Given the description of an element on the screen output the (x, y) to click on. 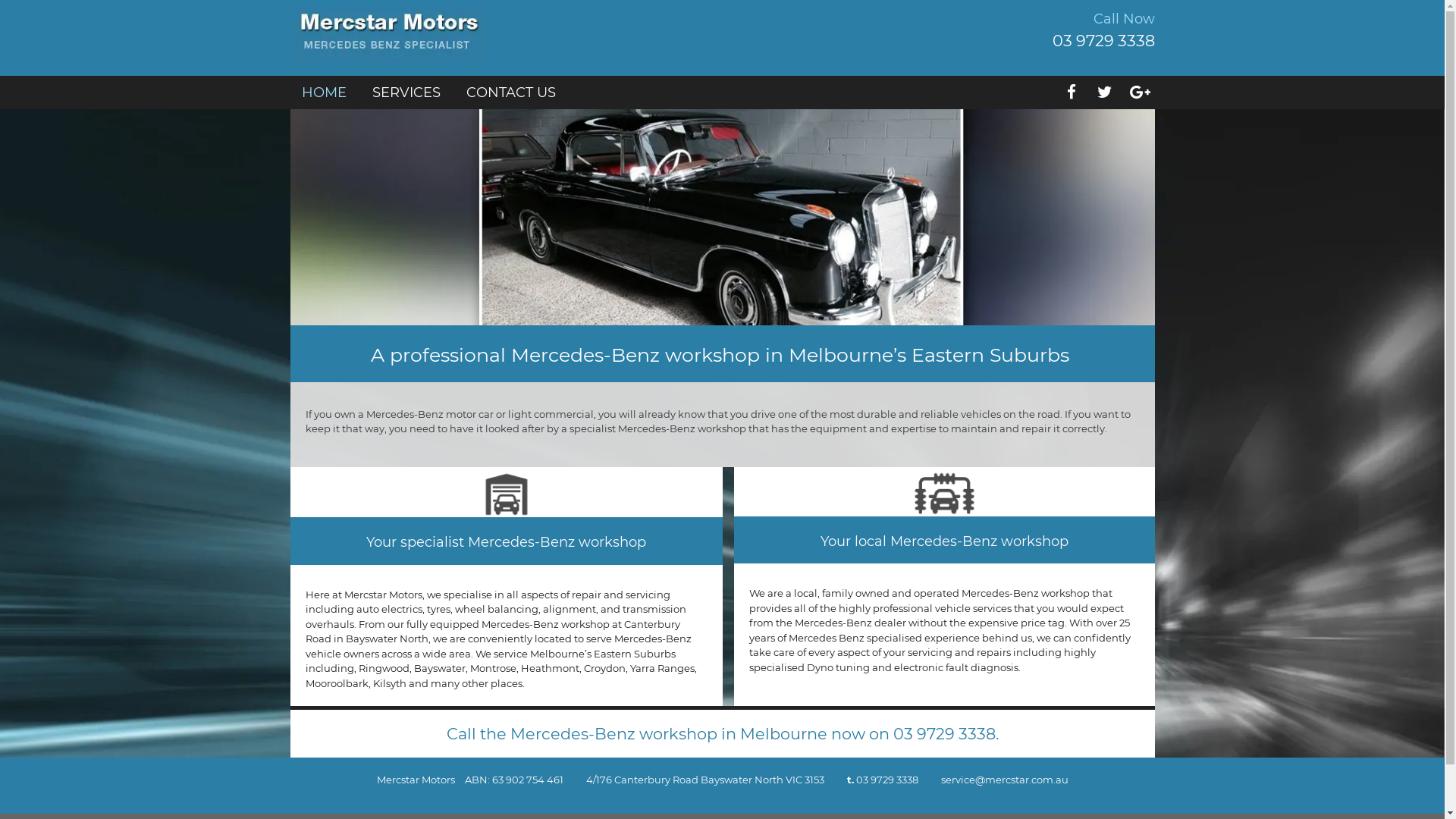
SERVICES Element type: text (405, 92)
03 9729 3338 Element type: text (886, 779)
mercstar motors car shed Element type: hover (944, 491)
03 9729 3338 Element type: text (944, 733)
mercstar motors logo Element type: hover (389, 34)
HOME Element type: text (323, 92)
mercstar motors shed Element type: hover (505, 492)
CONTACT US Element type: text (510, 92)
03 9729 3338 Element type: text (1103, 40)
mercstar motors black car Element type: hover (721, 217)
service@mercstar.com.au Element type: text (1003, 779)
